Given the description of an element on the screen output the (x, y) to click on. 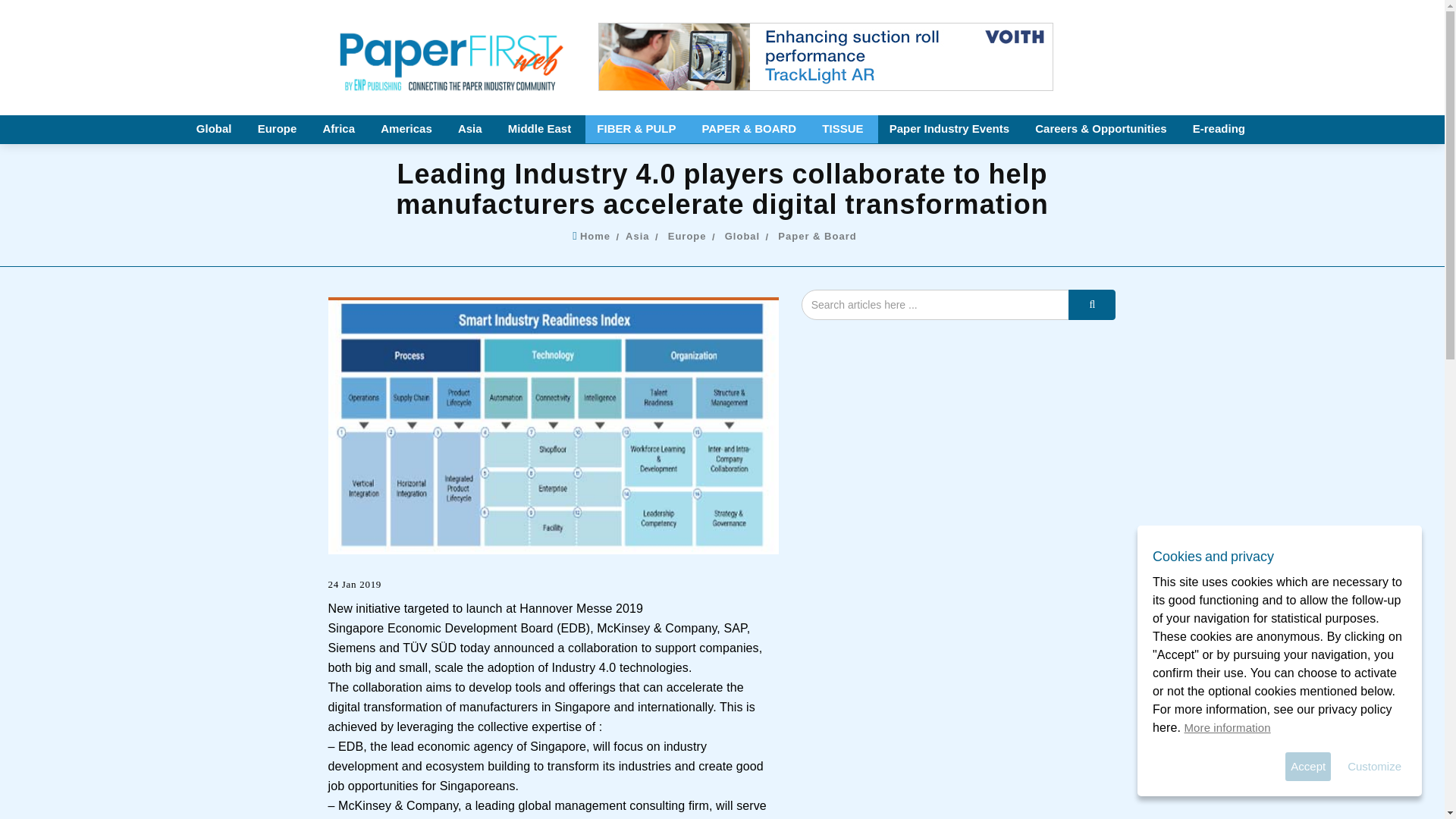
Global (215, 129)
24 Jan 2019 (354, 585)
Europe (278, 129)
TISSUE  (843, 129)
E-reading  (1219, 129)
Asia  (471, 129)
Americas  (407, 129)
Global  (215, 129)
Europe (691, 235)
Home (598, 235)
Asia (471, 129)
Europe  (278, 129)
Global (746, 235)
Africa (340, 129)
Africa  (340, 129)
